Given the description of an element on the screen output the (x, y) to click on. 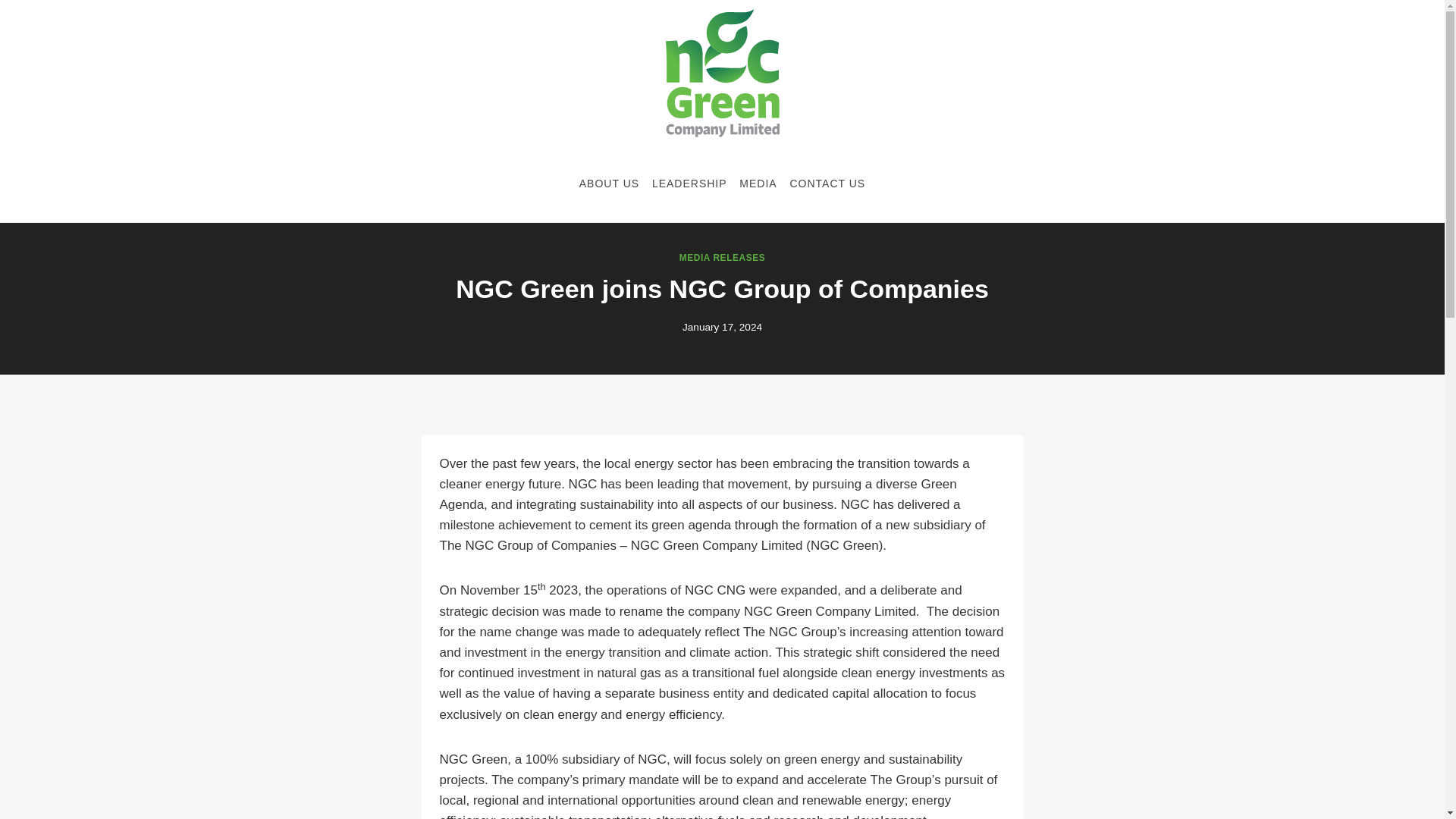
CONTACT US (827, 183)
MEDIA (758, 183)
MEDIA RELEASES (722, 257)
ABOUT US (608, 183)
LEADERSHIP (688, 183)
